Given the description of an element on the screen output the (x, y) to click on. 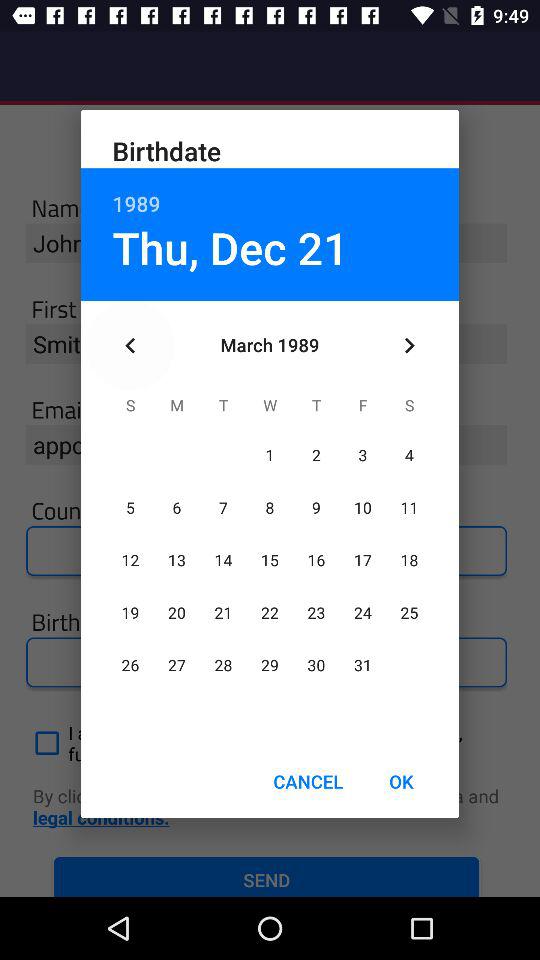
press the icon to the right of cancel (401, 781)
